Given the description of an element on the screen output the (x, y) to click on. 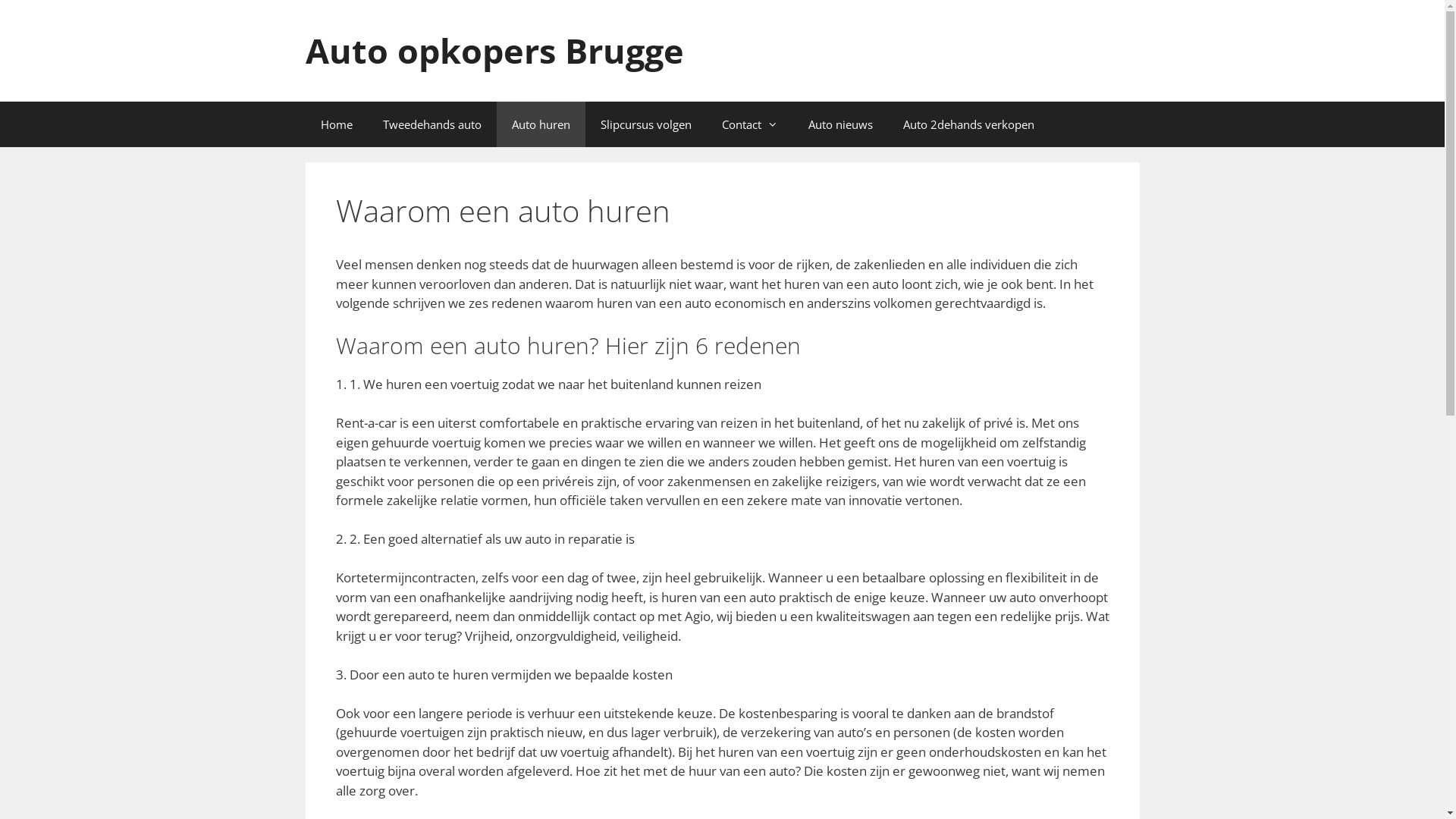
Slipcursus volgen Element type: text (645, 124)
Auto huren Element type: text (539, 124)
Contact Element type: text (749, 124)
Auto 2dehands verkopen Element type: text (967, 124)
Tweedehands auto Element type: text (431, 124)
Auto nieuws Element type: text (840, 124)
Home Element type: text (335, 124)
Auto opkopers Brugge Element type: text (493, 50)
